Given the description of an element on the screen output the (x, y) to click on. 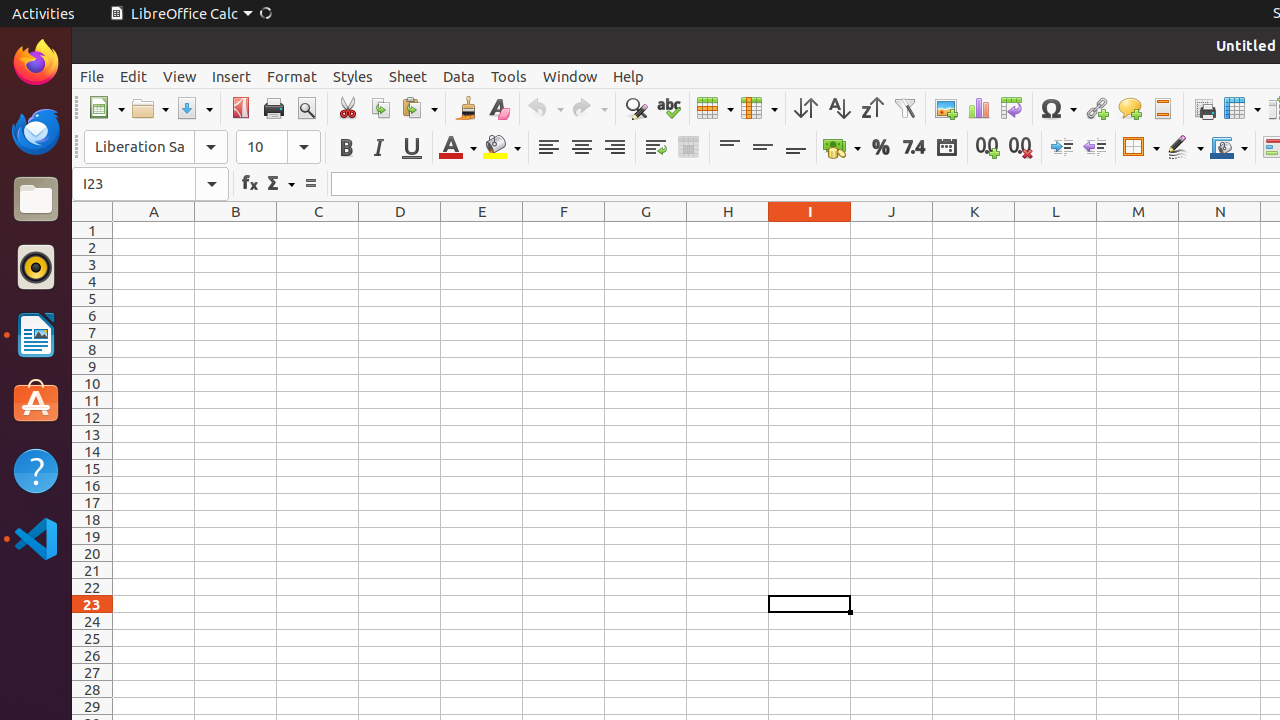
Column Element type: push-button (759, 108)
Number Element type: push-button (913, 147)
Align Center Element type: push-button (581, 147)
Print Element type: push-button (273, 108)
New Element type: push-button (106, 108)
